Given the description of an element on the screen output the (x, y) to click on. 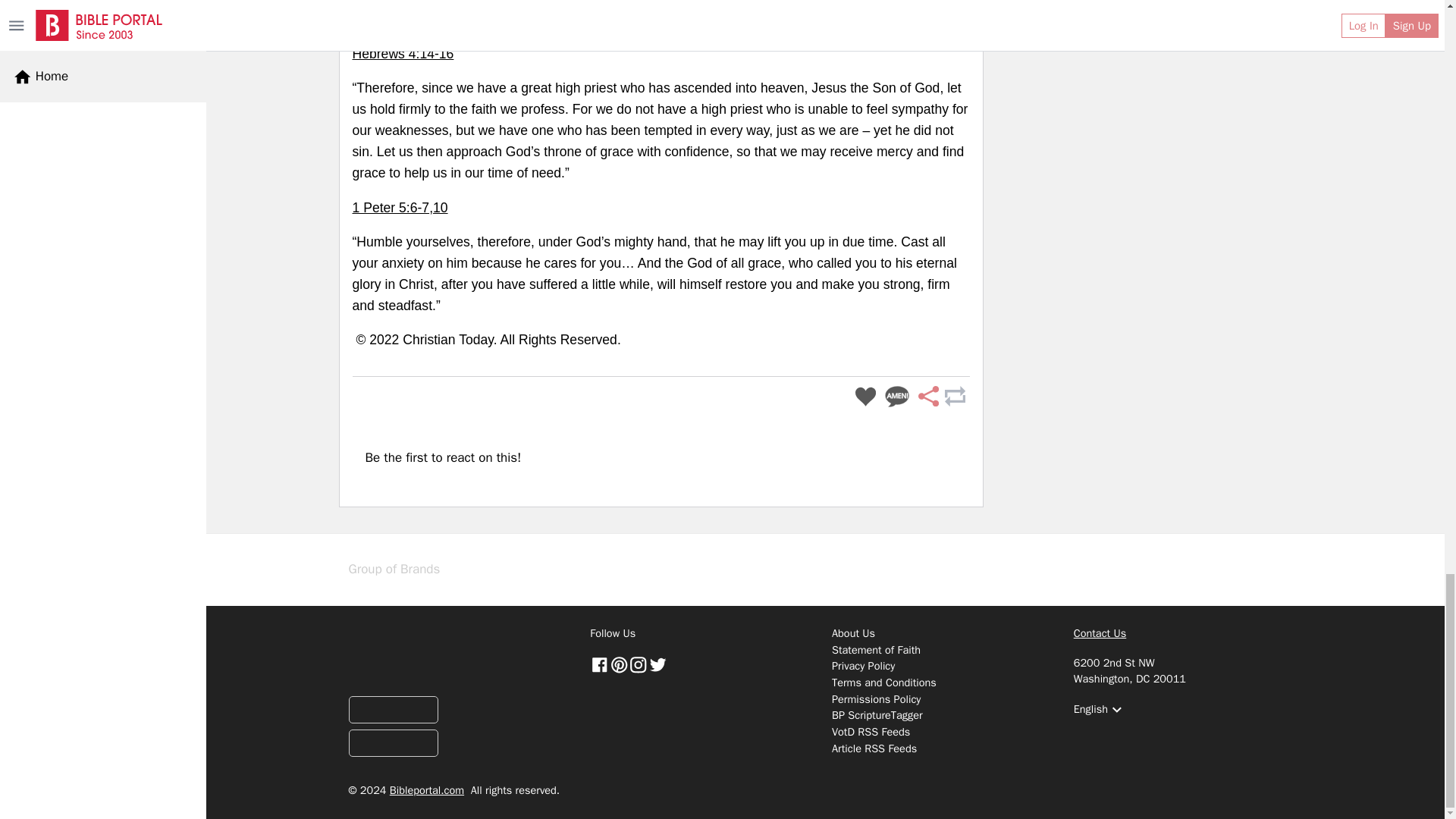
Repost (954, 396)
Like (865, 396)
Amen (897, 396)
